Given the description of an element on the screen output the (x, y) to click on. 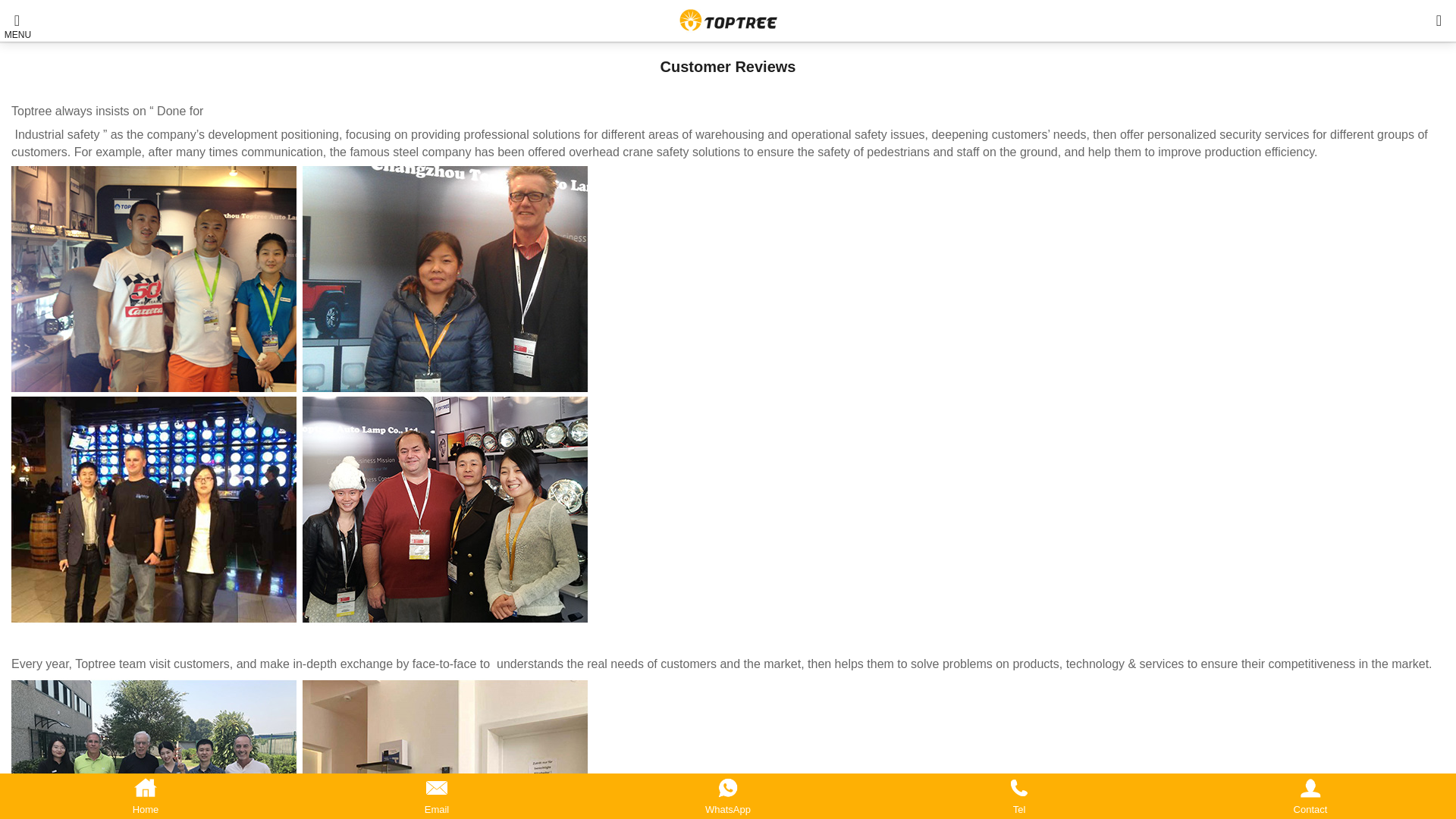
8011557387162943.jpg (299, 748)
